Given the description of an element on the screen output the (x, y) to click on. 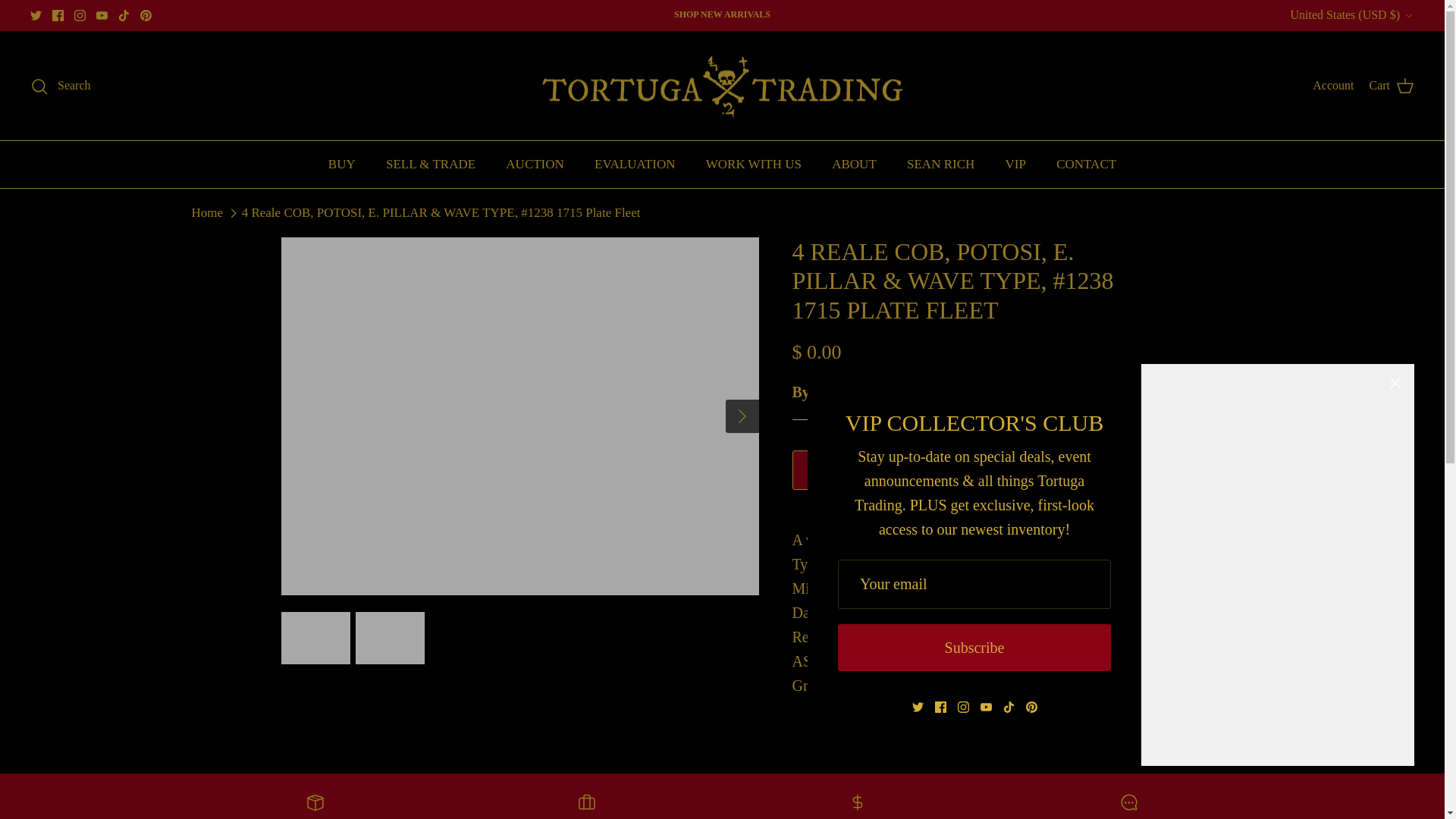
Cart (1390, 85)
Tortuga Trading (721, 85)
Youtube (101, 15)
Facebook (58, 15)
Pinterest (145, 15)
BUY (341, 164)
Twitter (36, 15)
Down (1408, 15)
Search (60, 85)
Right (741, 416)
Twitter (36, 15)
Instagram (79, 15)
Account (1333, 85)
Instagram (79, 15)
Facebook (58, 15)
